Given the description of an element on the screen output the (x, y) to click on. 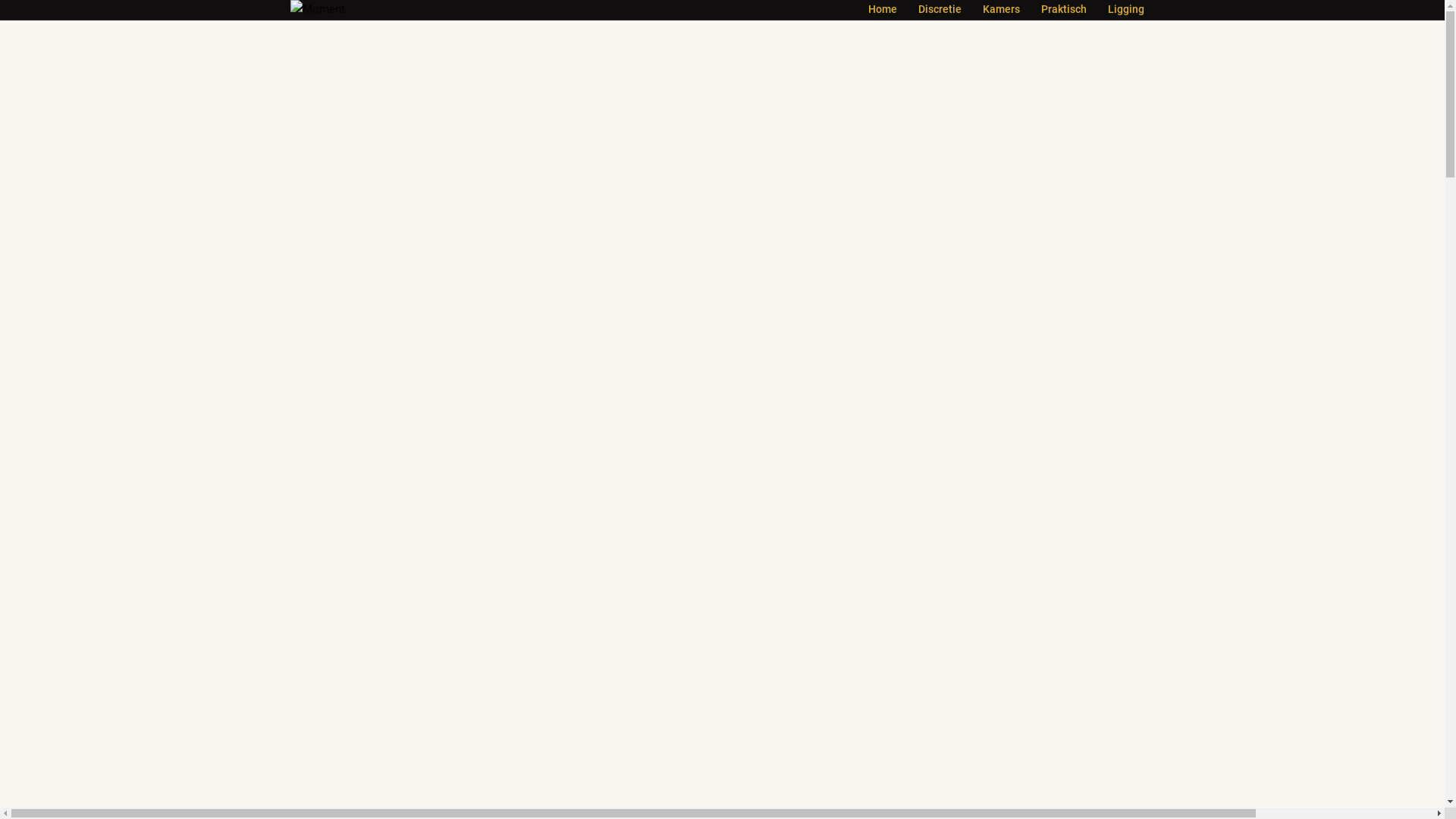
Home Element type: text (881, 9)
Praktisch Element type: text (1062, 9)
Kamers Element type: text (1000, 9)
Discretie Element type: text (938, 9)
Ligging Element type: text (1125, 9)
Moment Element type: hover (316, 8)
